Given the description of an element on the screen output the (x, y) to click on. 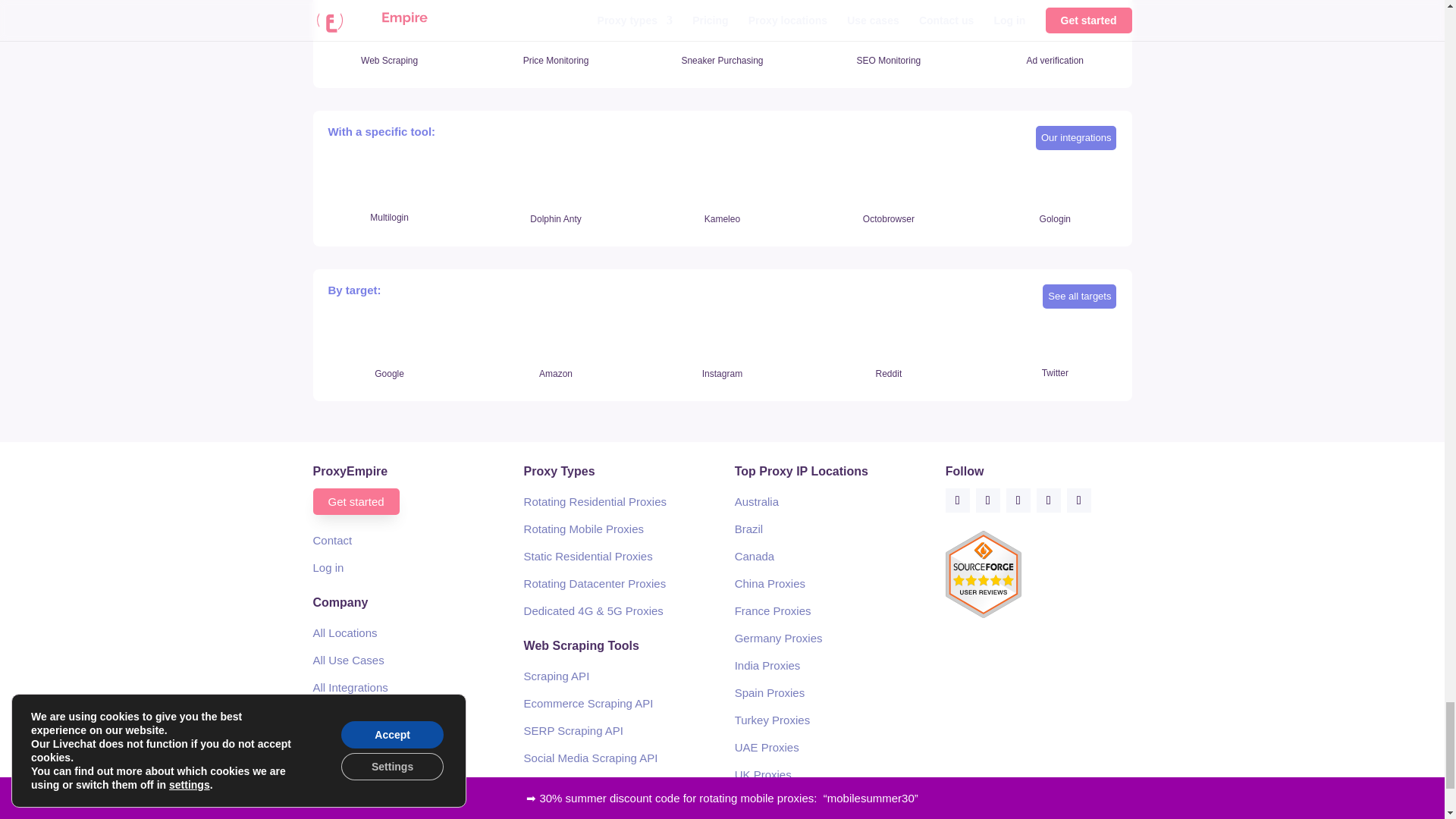
Follow on Facebook (956, 500)
Follow on Telegram (1078, 500)
Follow on X (987, 500)
Follow on LinkedIn (1048, 500)
Follow on Instagram (1018, 500)
